Given the description of an element on the screen output the (x, y) to click on. 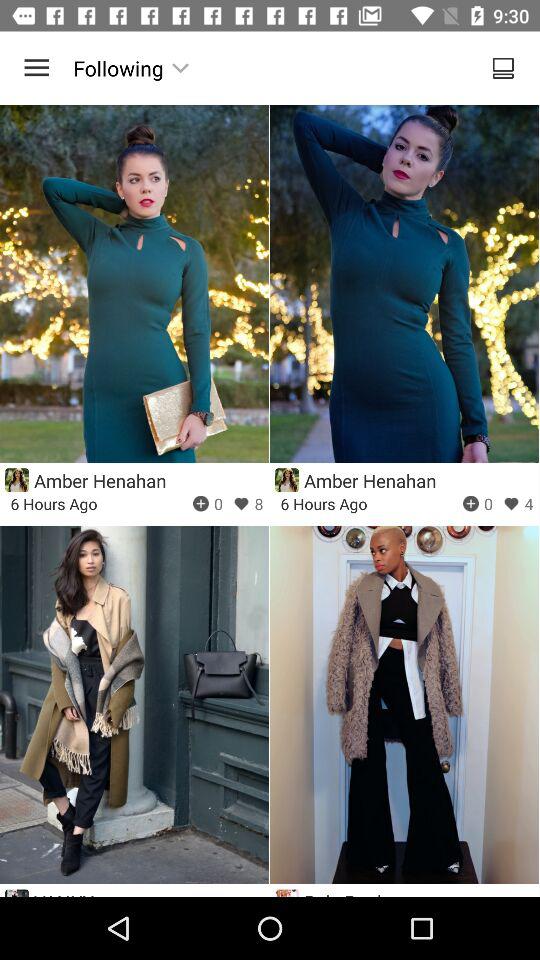
go to profile (286, 479)
